Given the description of an element on the screen output the (x, y) to click on. 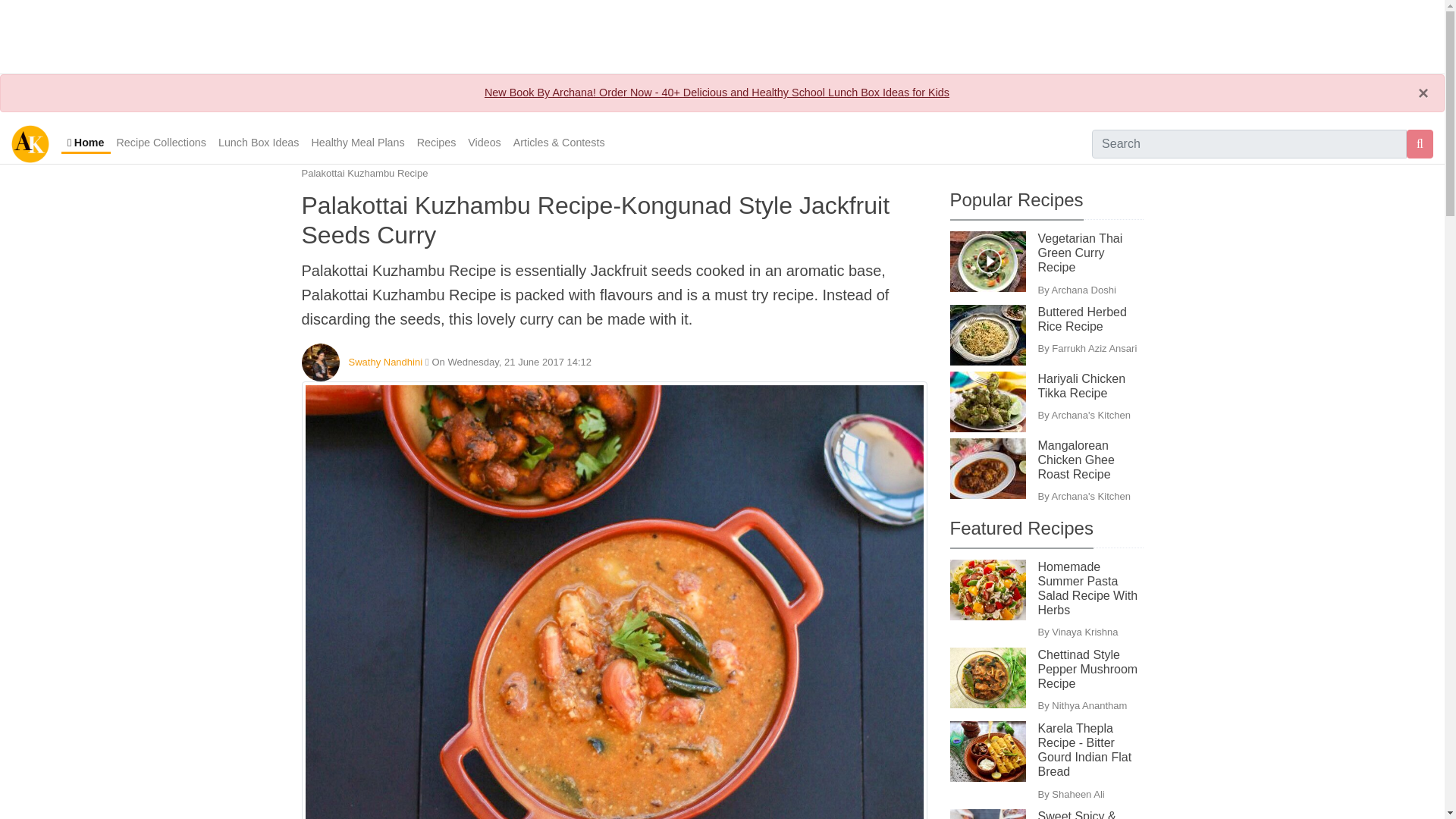
Recipe Collections (161, 142)
View Recipes by Swathy Nandhini  (386, 361)
Advertisement (721, 33)
Swathy Nandhini (386, 361)
Healthy Meal Plans (357, 142)
Lunch Box Ideas (258, 142)
Videos (483, 142)
Recipes (436, 142)
 Home (85, 143)
